Given the description of an element on the screen output the (x, y) to click on. 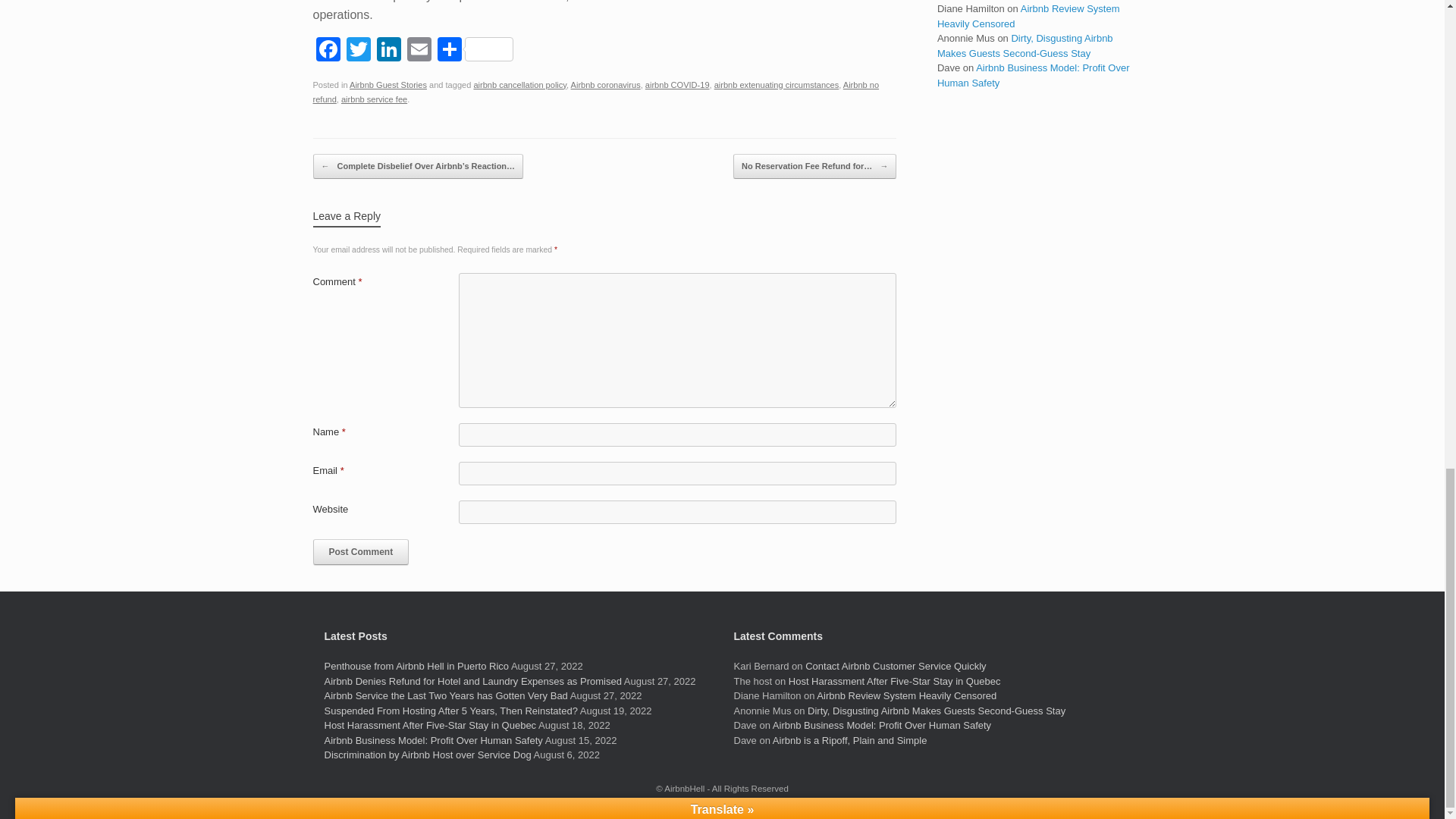
Email (418, 50)
Airbnb no refund (596, 92)
airbnb service fee (373, 99)
Airbnb coronavirus (605, 84)
airbnb extenuating circumstances (777, 84)
Facebook (327, 50)
airbnb COVID-19 (677, 84)
Post Comment (361, 551)
LinkedIn (387, 50)
airbnb cancellation policy (519, 84)
